Given the description of an element on the screen output the (x, y) to click on. 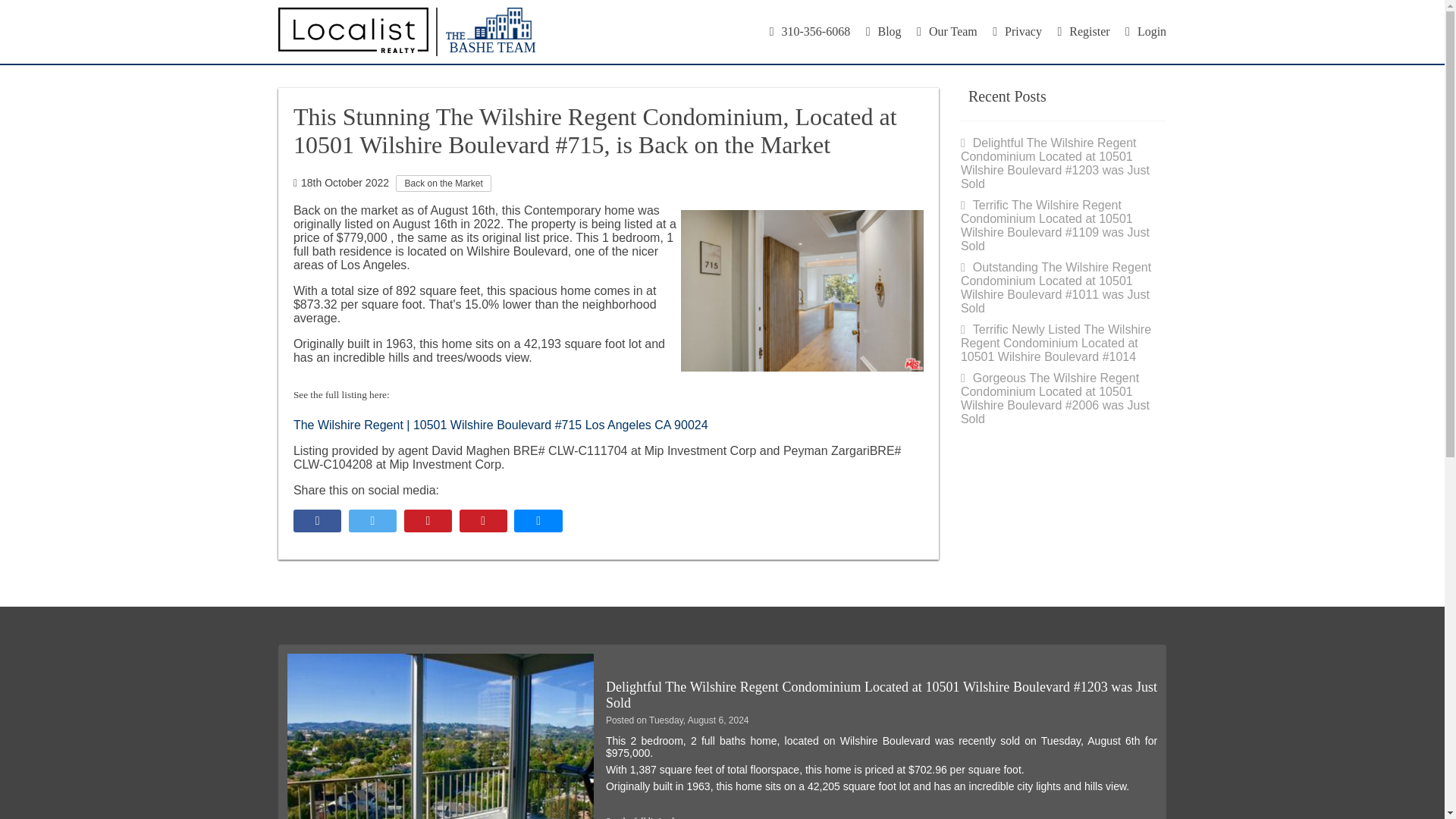
Share on Facebook (317, 520)
Email (537, 520)
Login (1145, 31)
Privacy (1017, 31)
Register (1083, 31)
Tweet (372, 520)
Recent Posts (1003, 95)
Blog (883, 31)
Pin it (483, 520)
BASHE TEAM (406, 31)
